Given the description of an element on the screen output the (x, y) to click on. 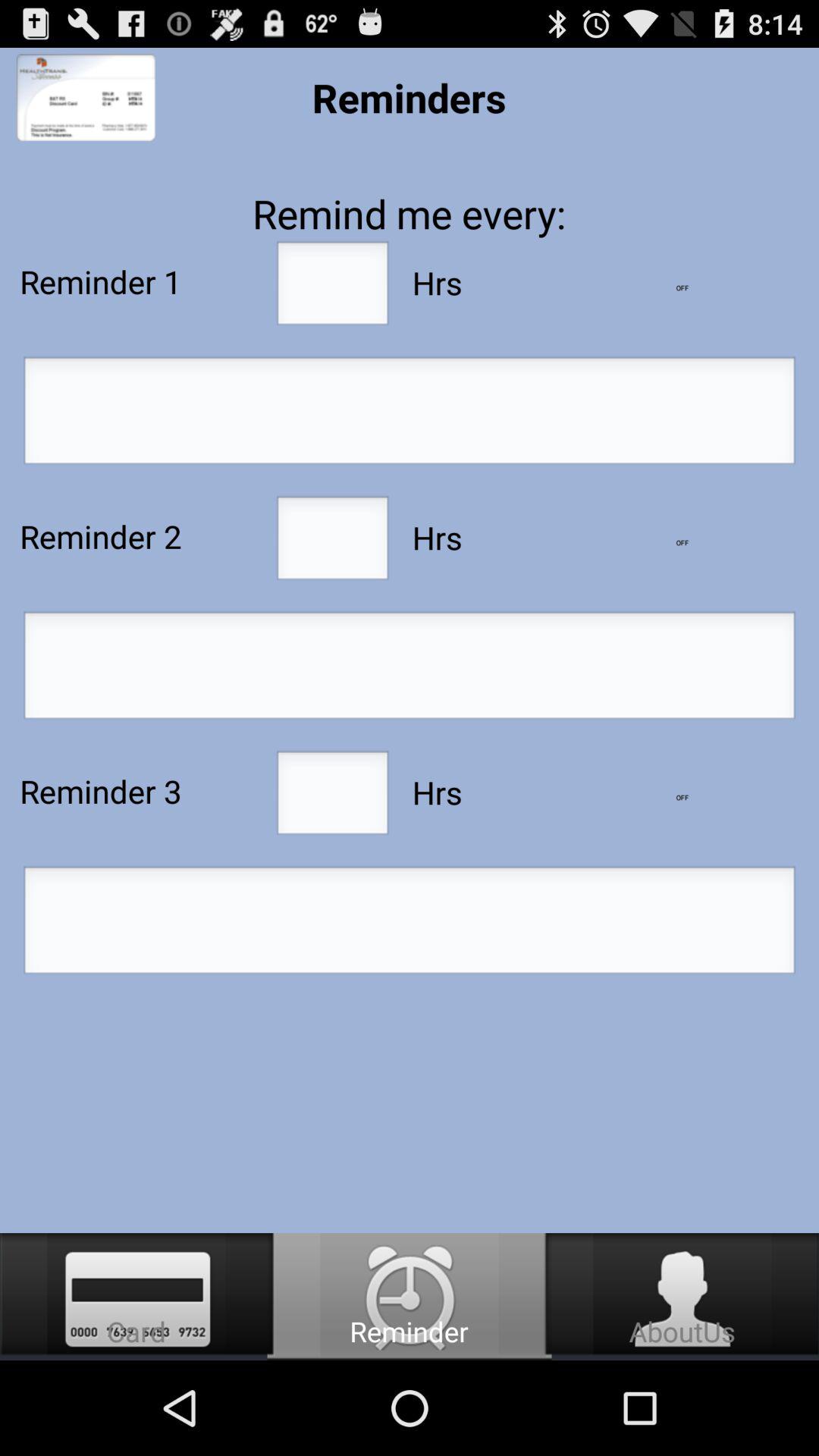
enter reminder (409, 414)
